Given the description of an element on the screen output the (x, y) to click on. 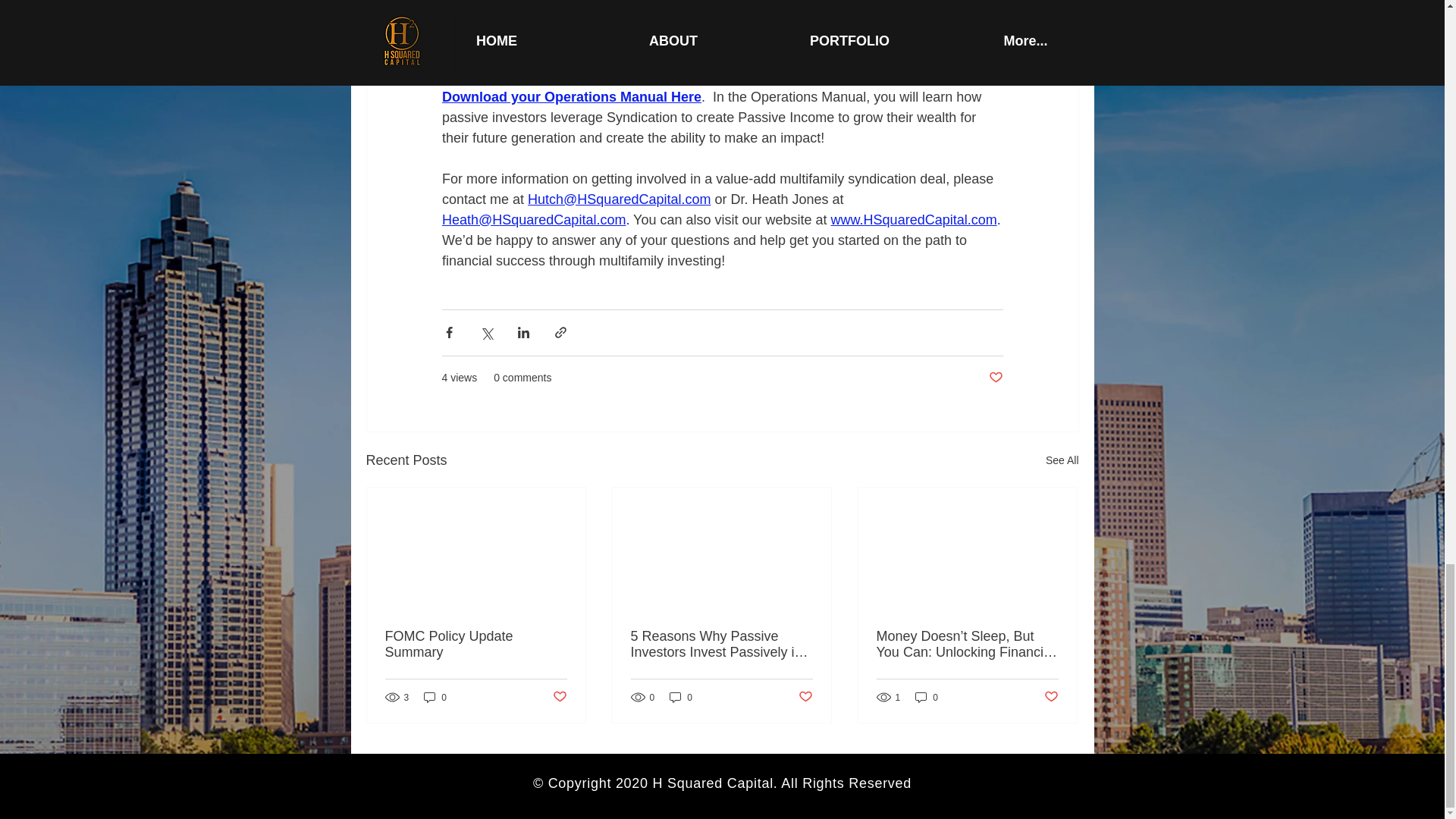
Download your Operations Manual Here (570, 96)
Post not marked as liked (558, 697)
FOMC Policy Update Summary (476, 644)
See All (1061, 460)
Post not marked as liked (995, 377)
0 (435, 697)
0 (681, 697)
Post not marked as liked (804, 697)
